Given the description of an element on the screen output the (x, y) to click on. 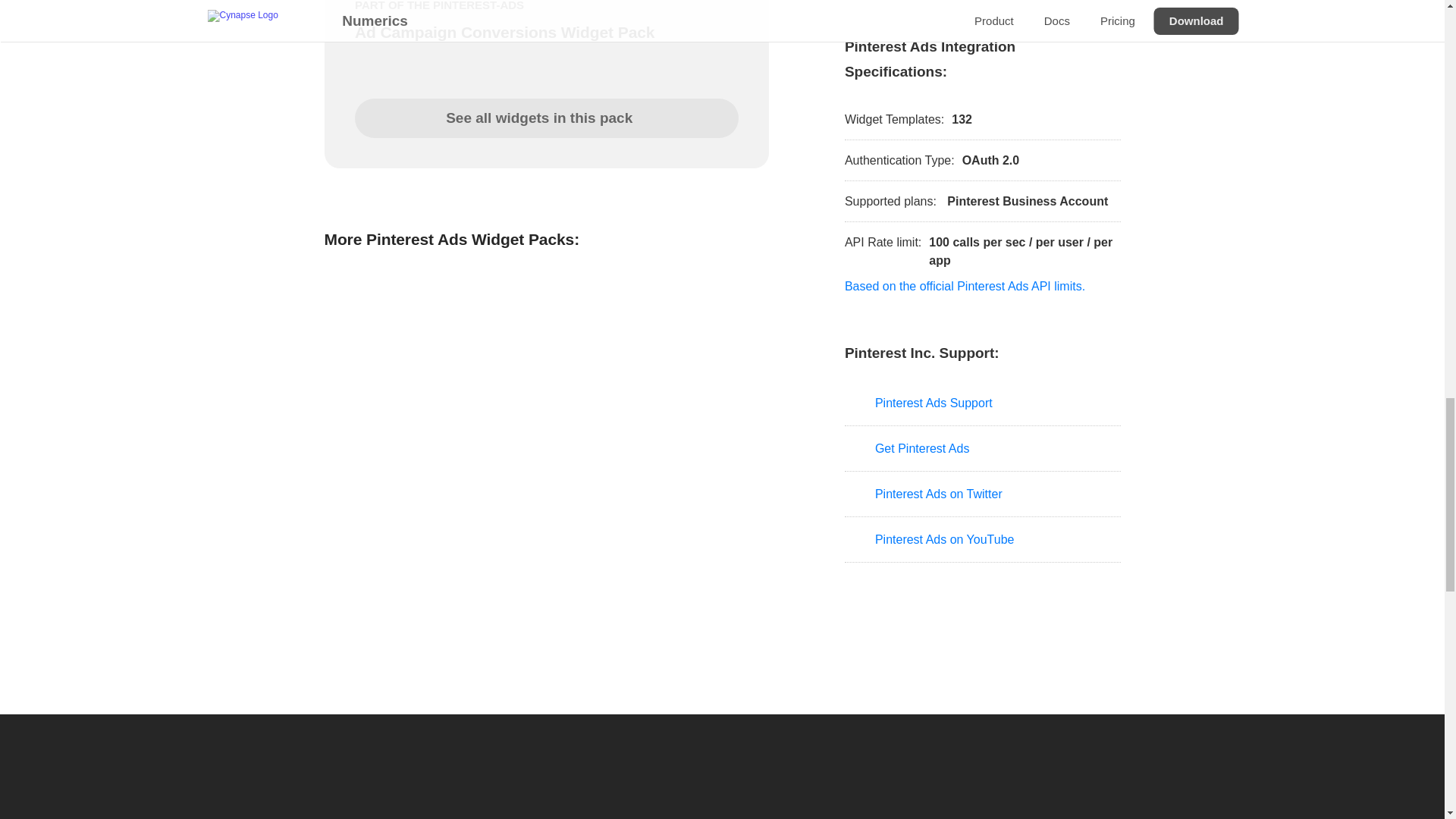
Pinterest Ads on Twitter (982, 493)
Pinterest Ads Support (982, 402)
Pinterest Ads on YouTube (982, 539)
Based on the official Pinterest Ads API limits. (964, 286)
See all widgets in this pack (546, 118)
Get Pinterest Ads (982, 448)
